Given the description of an element on the screen output the (x, y) to click on. 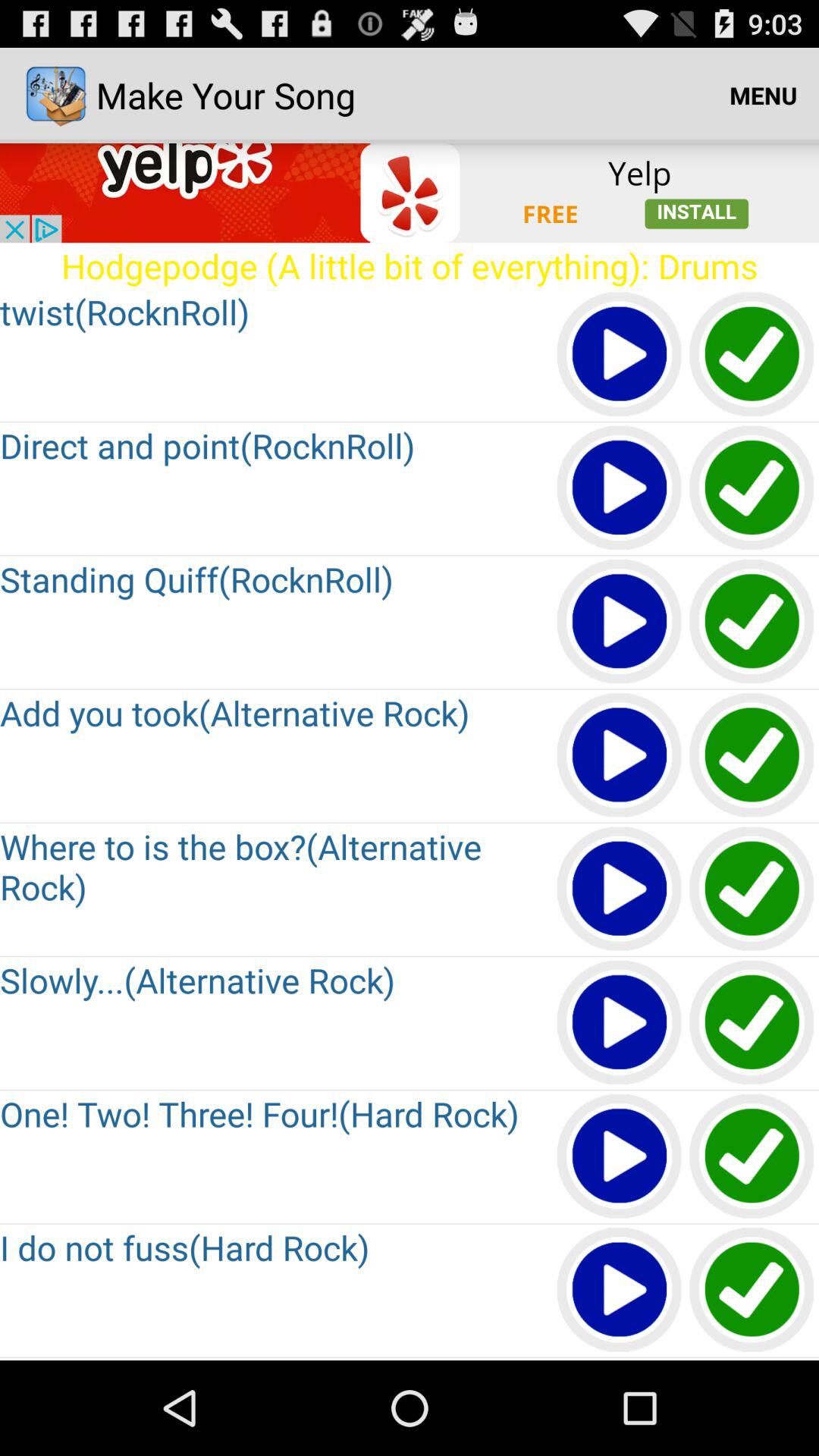
right button (752, 755)
